Given the description of an element on the screen output the (x, y) to click on. 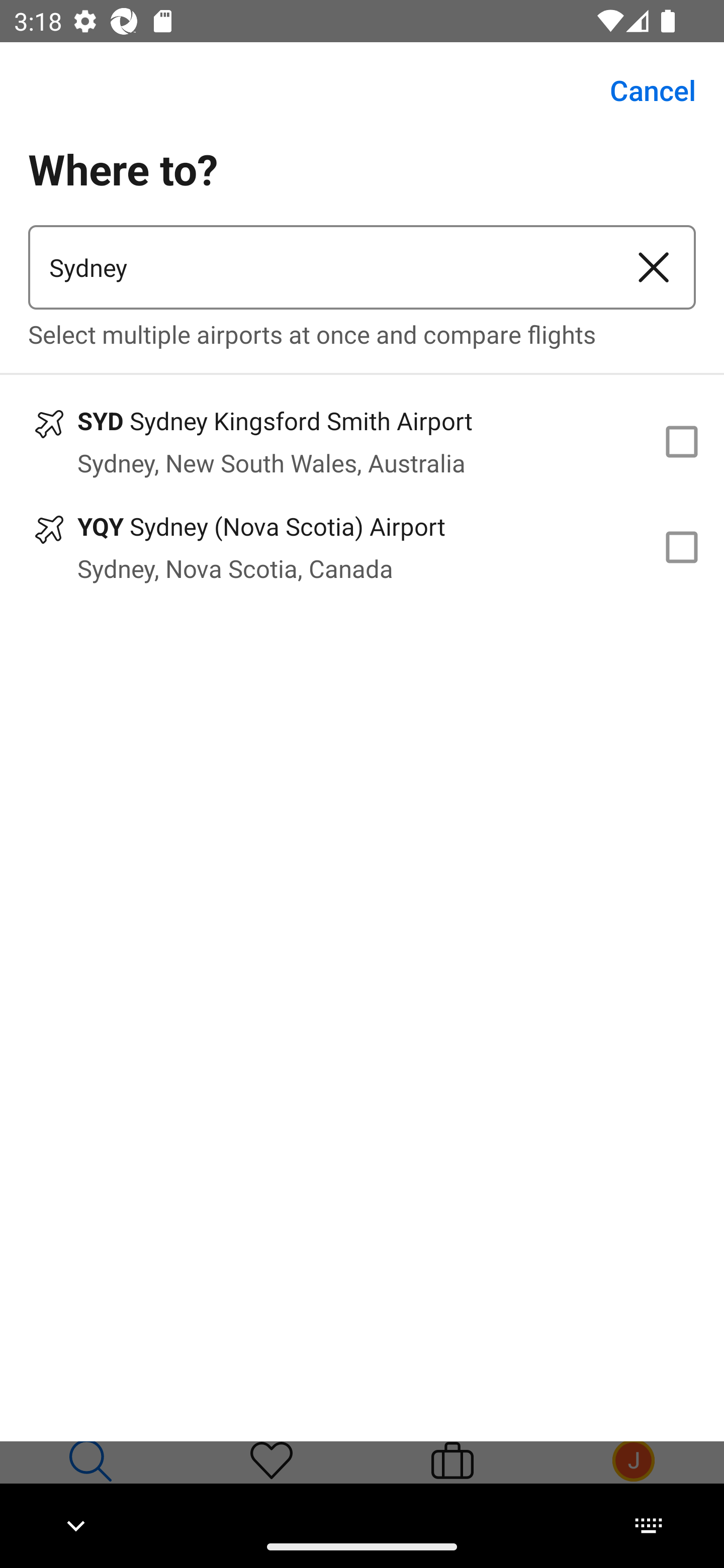
Cancel (641, 90)
Sydney (319, 266)
Clear airport or city (653, 266)
